Given the description of an element on the screen output the (x, y) to click on. 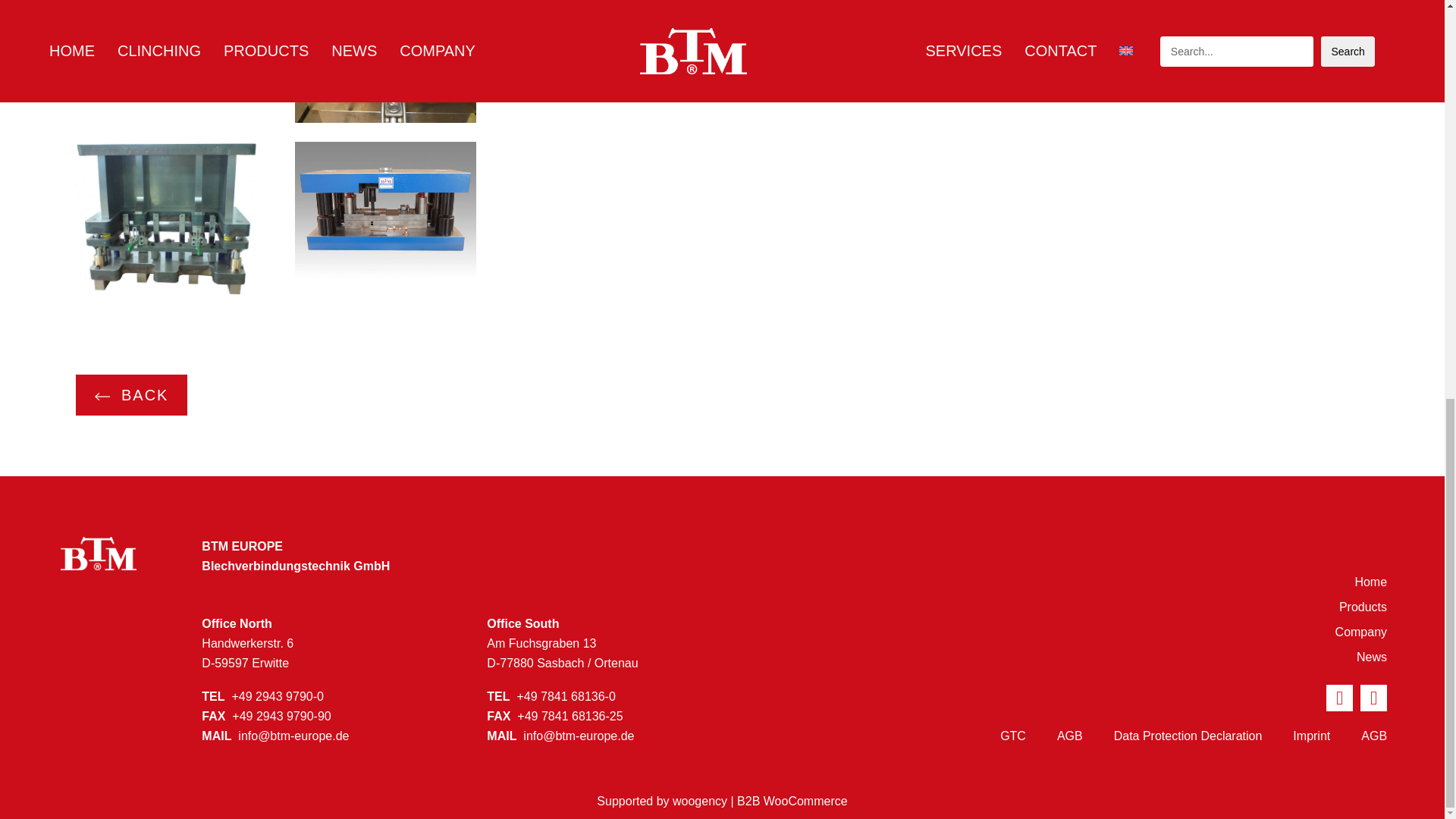
Arrow Icon (749, 55)
ARROW-BACK (102, 396)
